Given the description of an element on the screen output the (x, y) to click on. 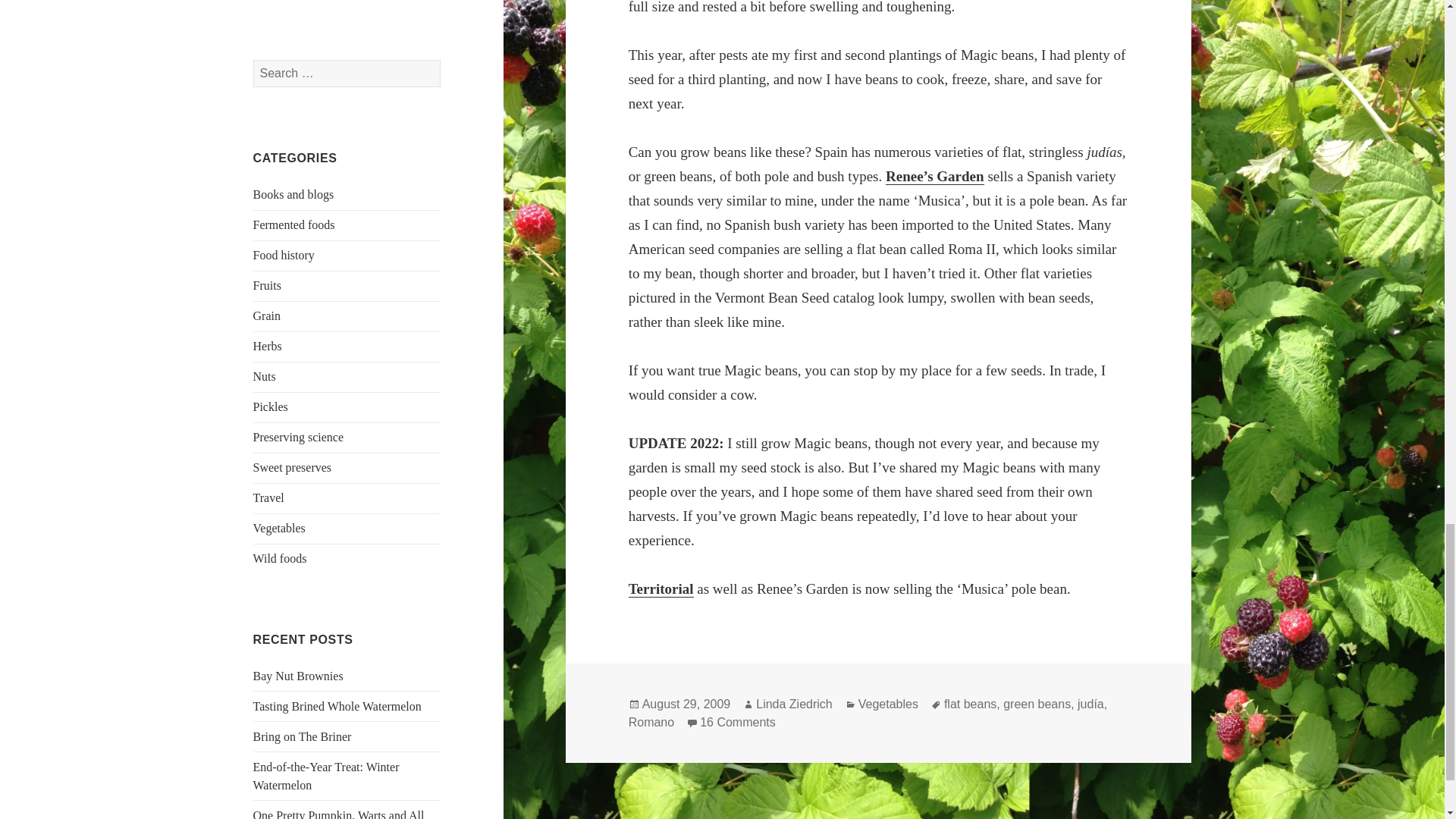
Herbs (267, 345)
Books and blogs (293, 194)
Pickles (270, 406)
Sweet preserves (292, 467)
Fermented foods (293, 224)
Preserving science (298, 436)
Travel (268, 497)
End-of-the-Year Treat: Winter Watermelon (325, 775)
Wild foods (280, 558)
